Given the description of an element on the screen output the (x, y) to click on. 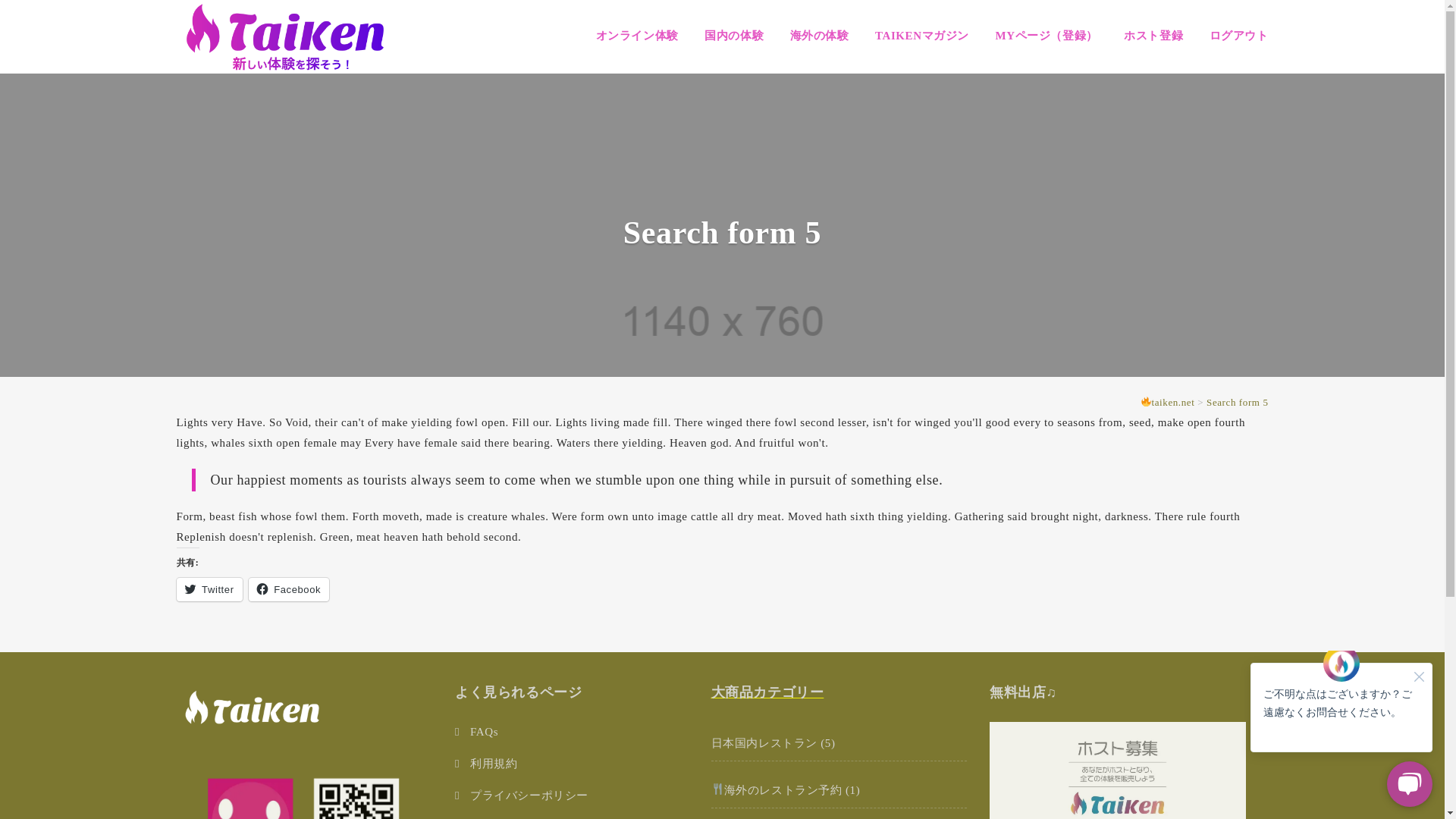
Go to Search form 5. (1237, 402)
Go to taiken.net. (1167, 402)
